Given the description of an element on the screen output the (x, y) to click on. 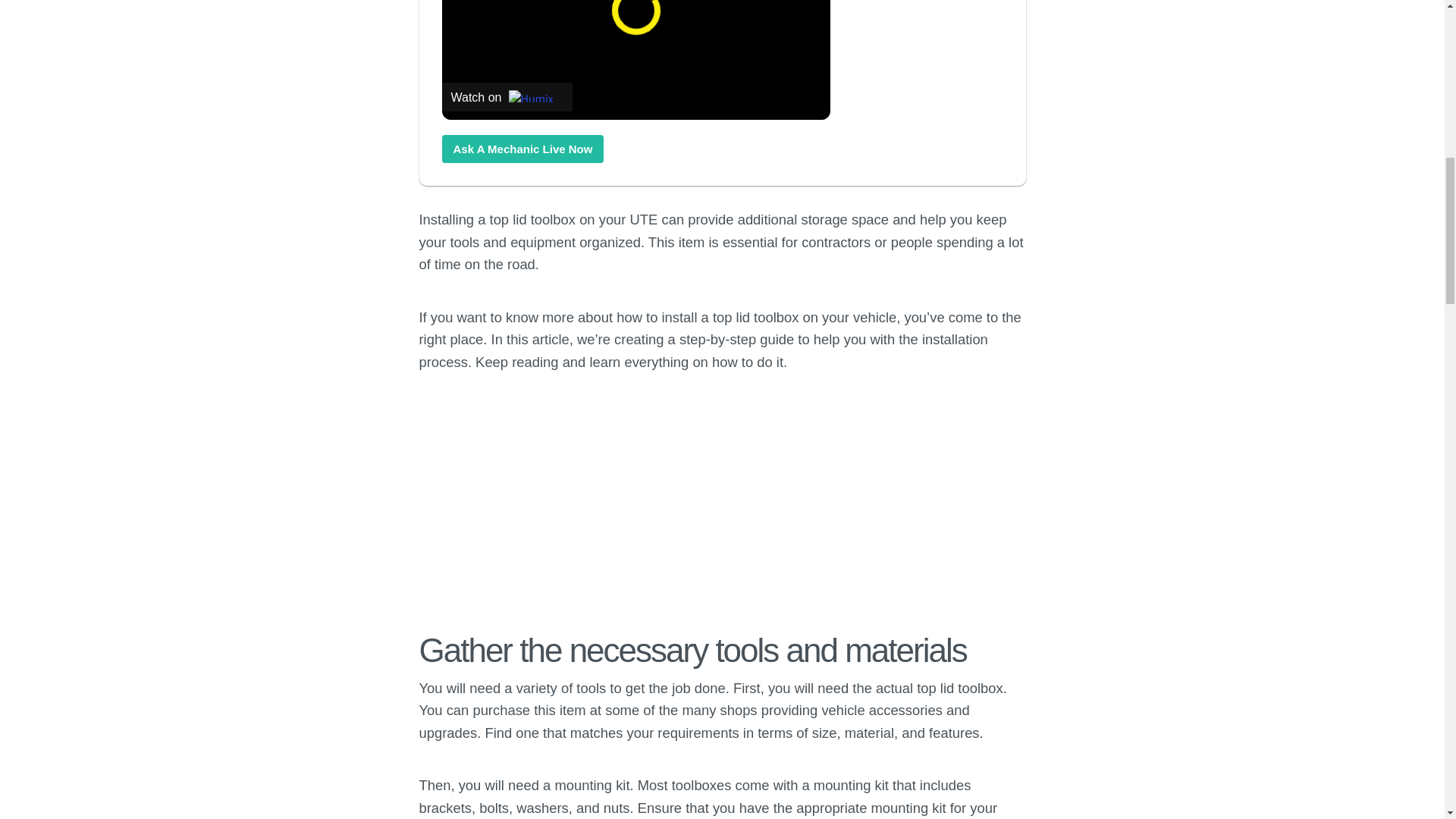
Ask A Mechanic Live Now (522, 148)
Watch on (506, 96)
Chat With A Mechanic Online (522, 148)
